Given the description of an element on the screen output the (x, y) to click on. 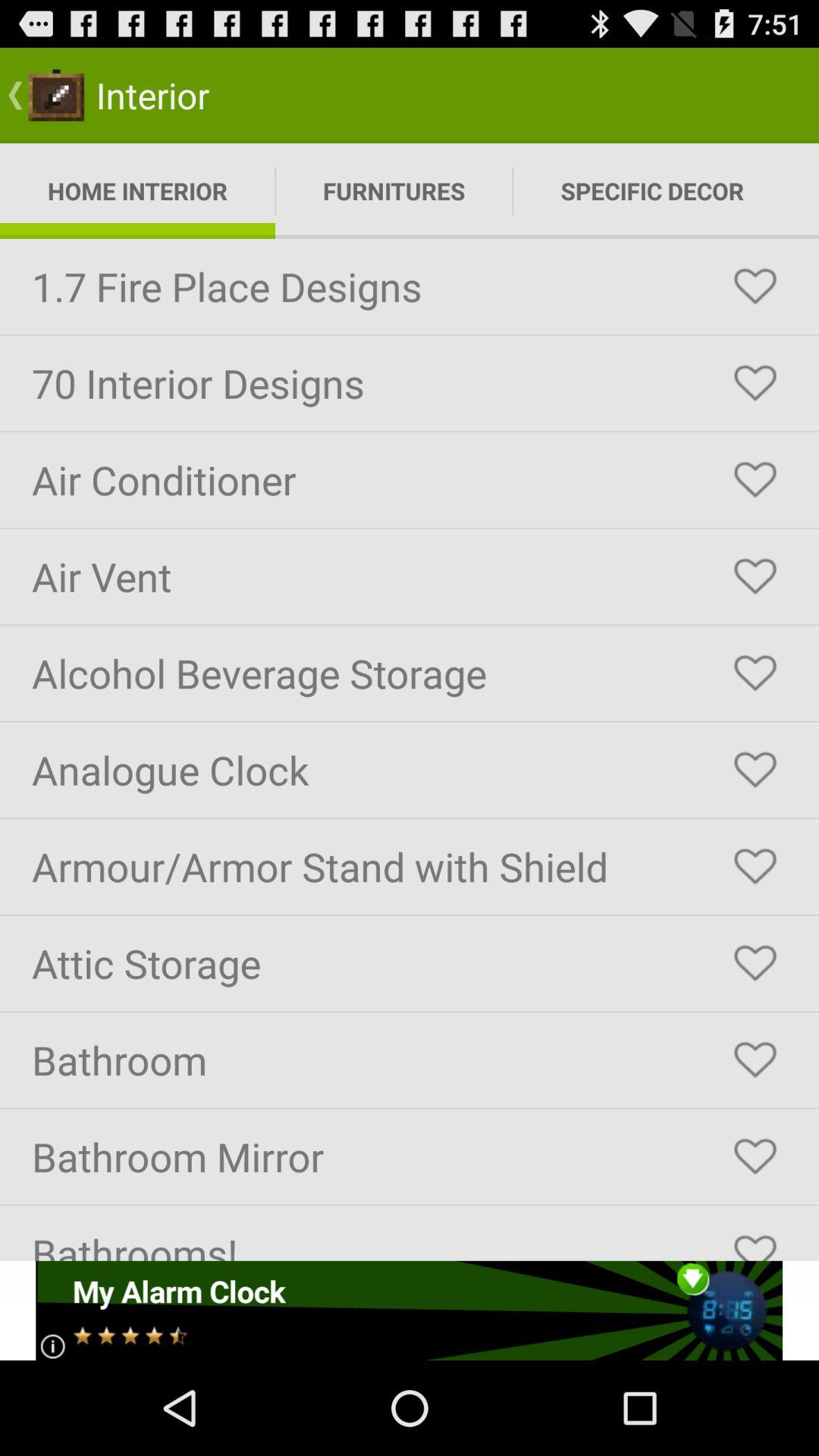
add to favourites (755, 286)
